Given the description of an element on the screen output the (x, y) to click on. 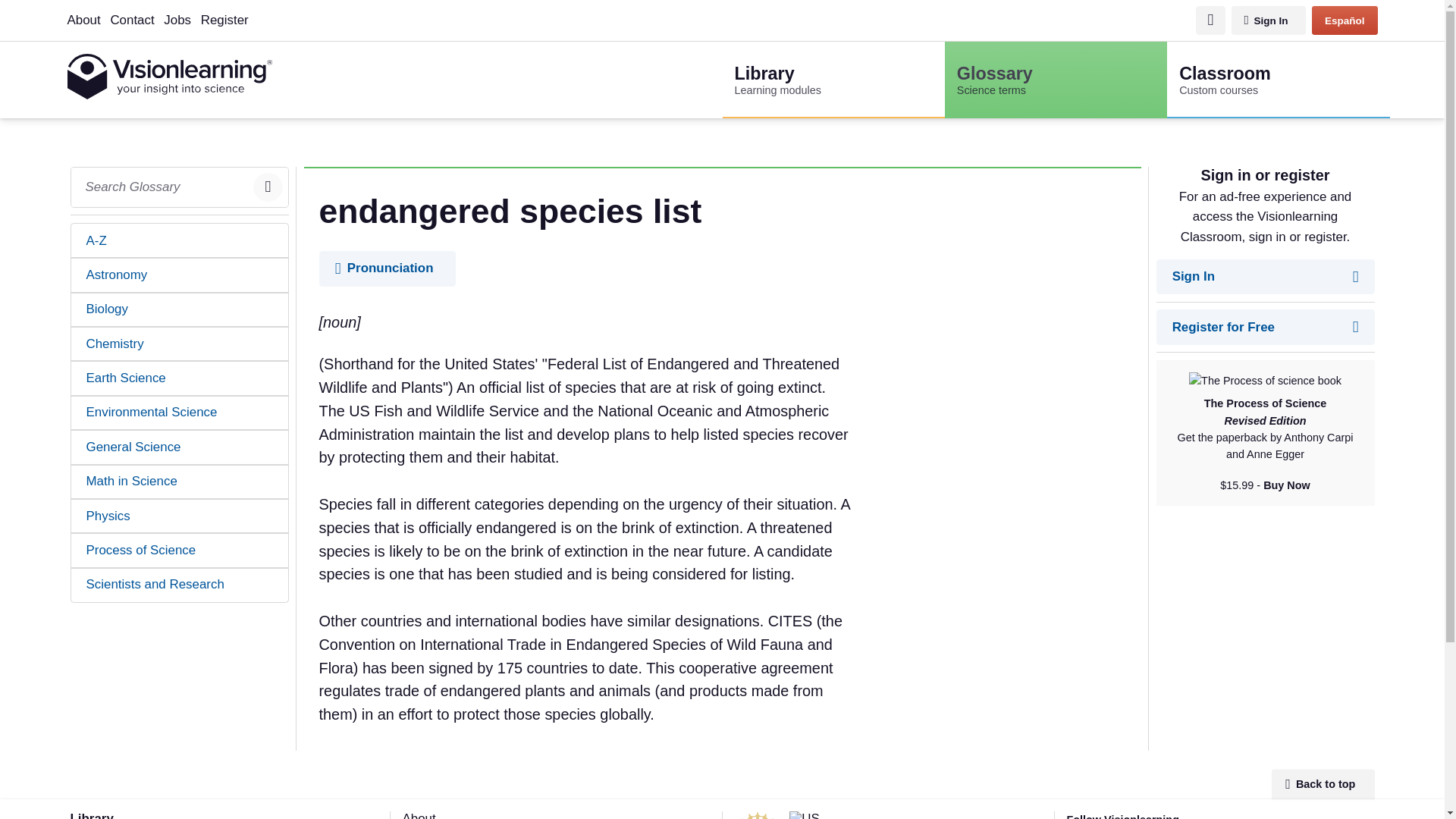
Sign In (1265, 276)
Physics (179, 515)
Process of Science (179, 550)
Earth Science (179, 377)
Scientists and Research (179, 584)
Register (224, 20)
General Science (179, 446)
Biology (179, 309)
Back to top (1278, 79)
About (1322, 784)
Register for Free (83, 20)
A-Z (1265, 326)
Astronomy (179, 240)
Math in Science (179, 274)
